Given the description of an element on the screen output the (x, y) to click on. 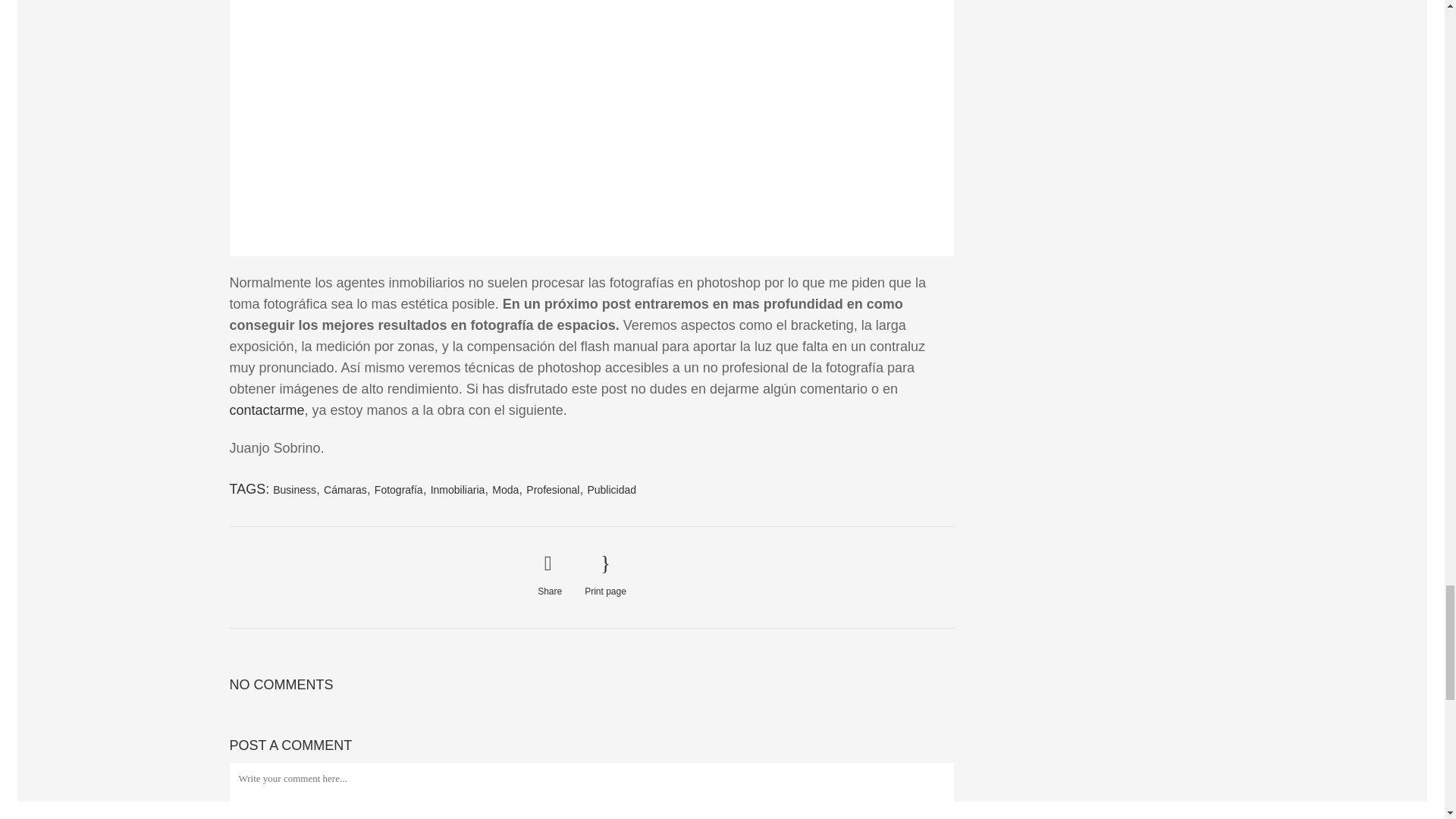
Profesional (552, 490)
Publicidad (611, 490)
Moda (505, 490)
Business (294, 490)
Inmobiliaria (457, 490)
contactarme (266, 409)
